Given the description of an element on the screen output the (x, y) to click on. 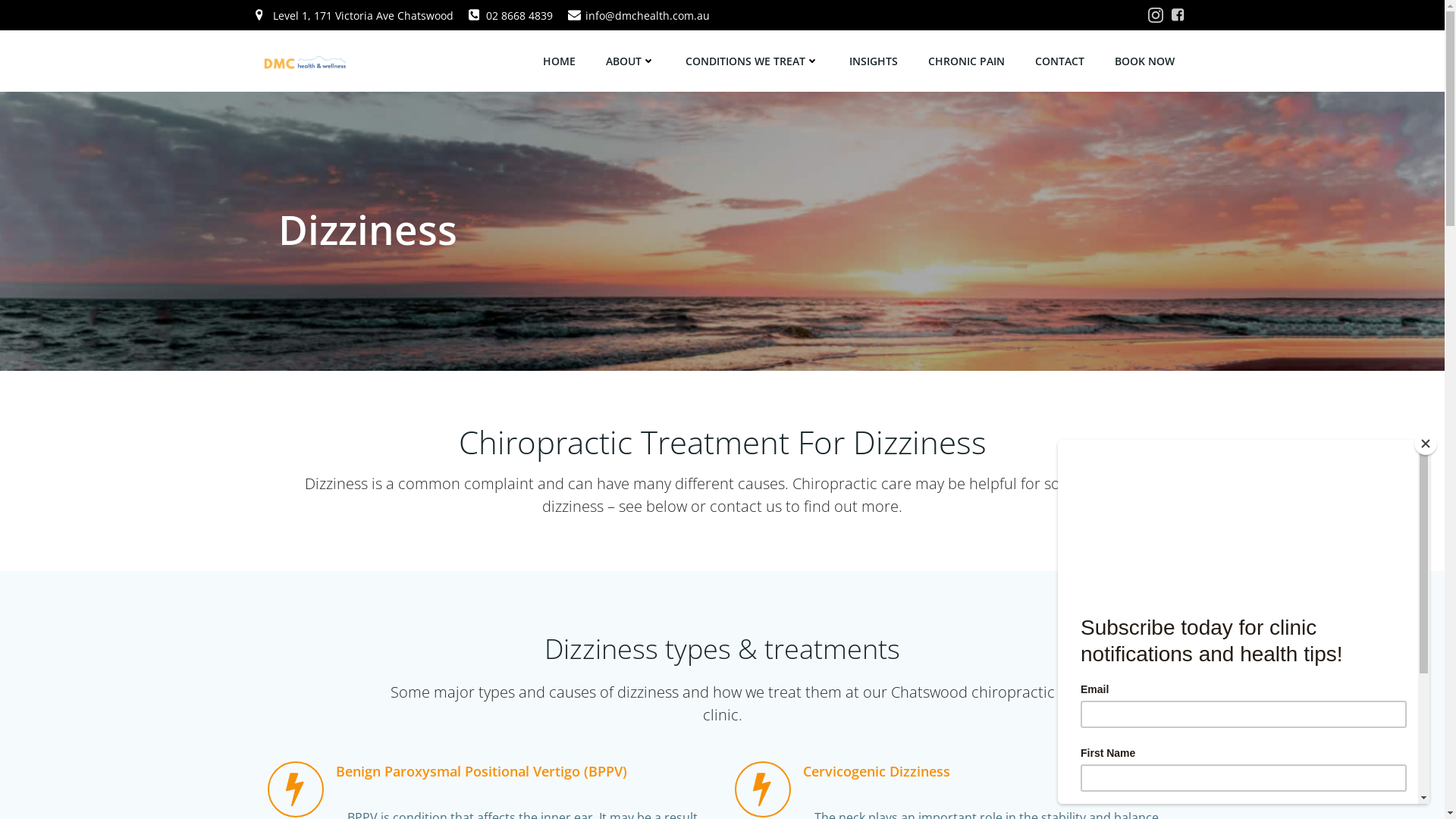
CONTACT Element type: text (1058, 61)
info@dmchealth.com.au Element type: text (638, 14)
(02) 8668 4839 Element type: text (1040, 773)
INSIGHTS Element type: text (873, 61)
ABOUT Element type: text (629, 61)
CONDITIONS WE TREAT Element type: text (752, 61)
BOOK NOW Element type: text (1144, 61)
02 8668 4839 Element type: text (510, 14)
CHRONIC PAIN Element type: text (966, 61)
HOME Element type: text (558, 61)
